Given the description of an element on the screen output the (x, y) to click on. 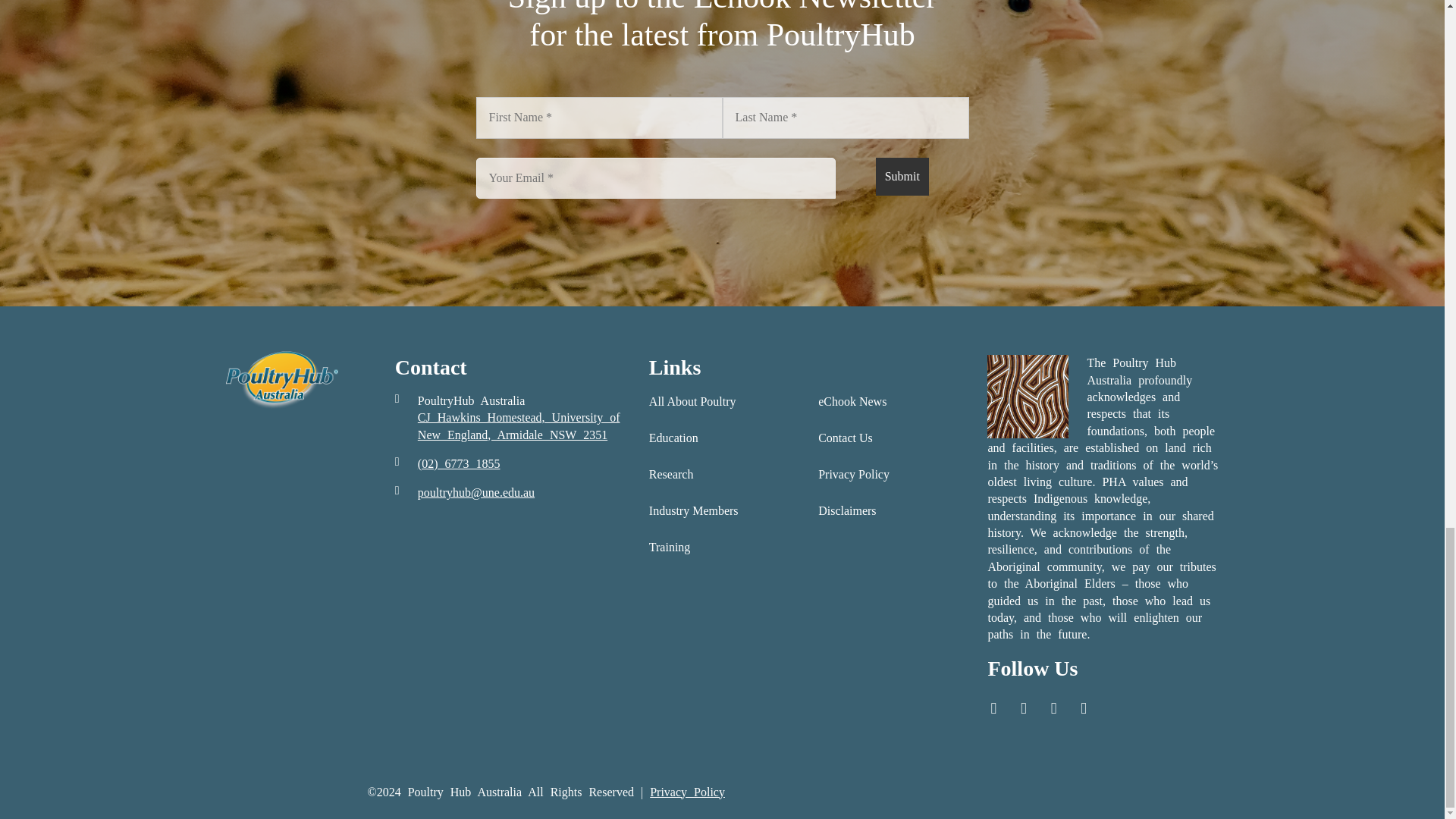
Submit (902, 176)
